Given the description of an element on the screen output the (x, y) to click on. 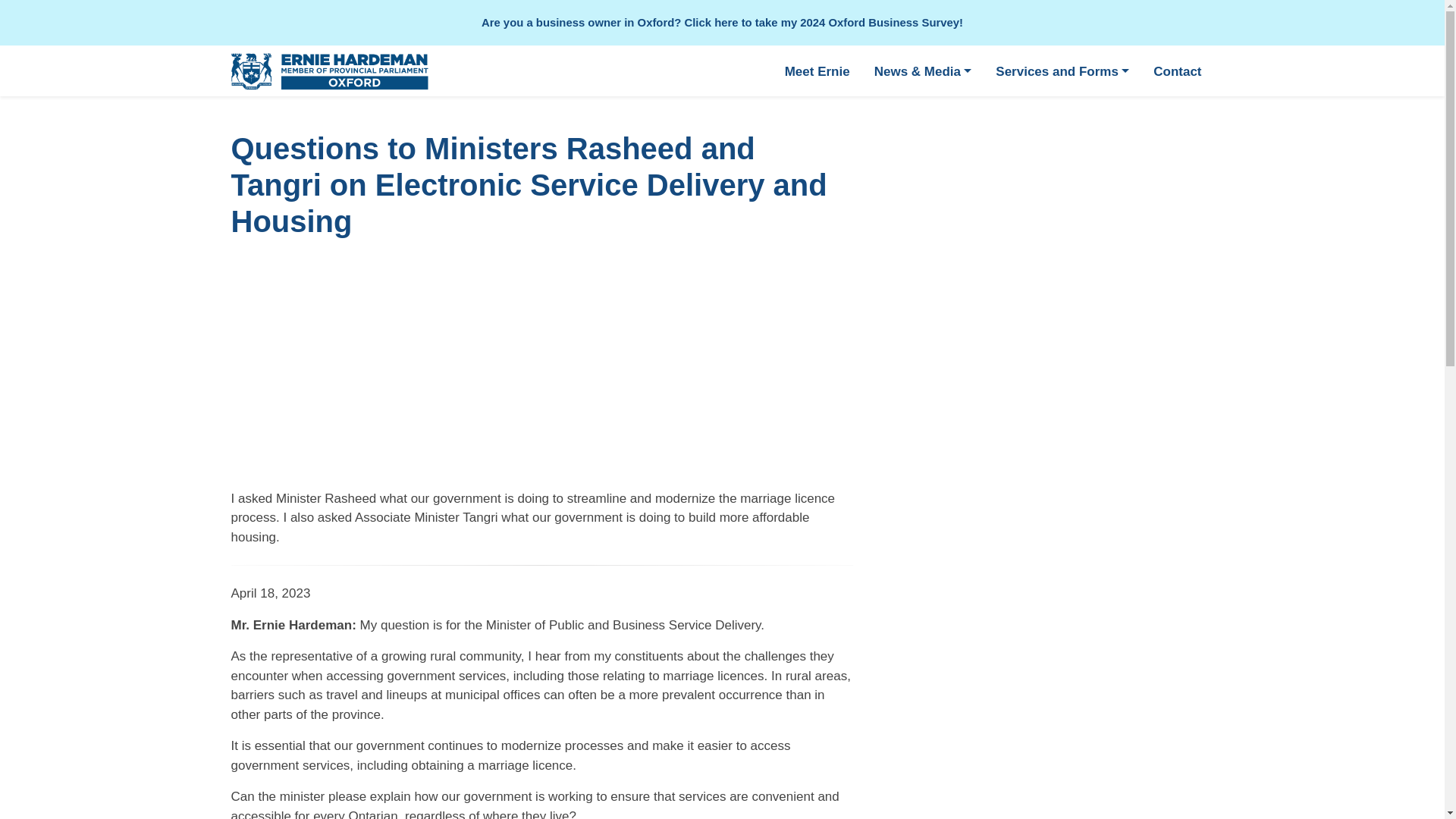
Services and Forms (1062, 70)
Contact (1176, 70)
Meet Ernie (817, 70)
